Given the description of an element on the screen output the (x, y) to click on. 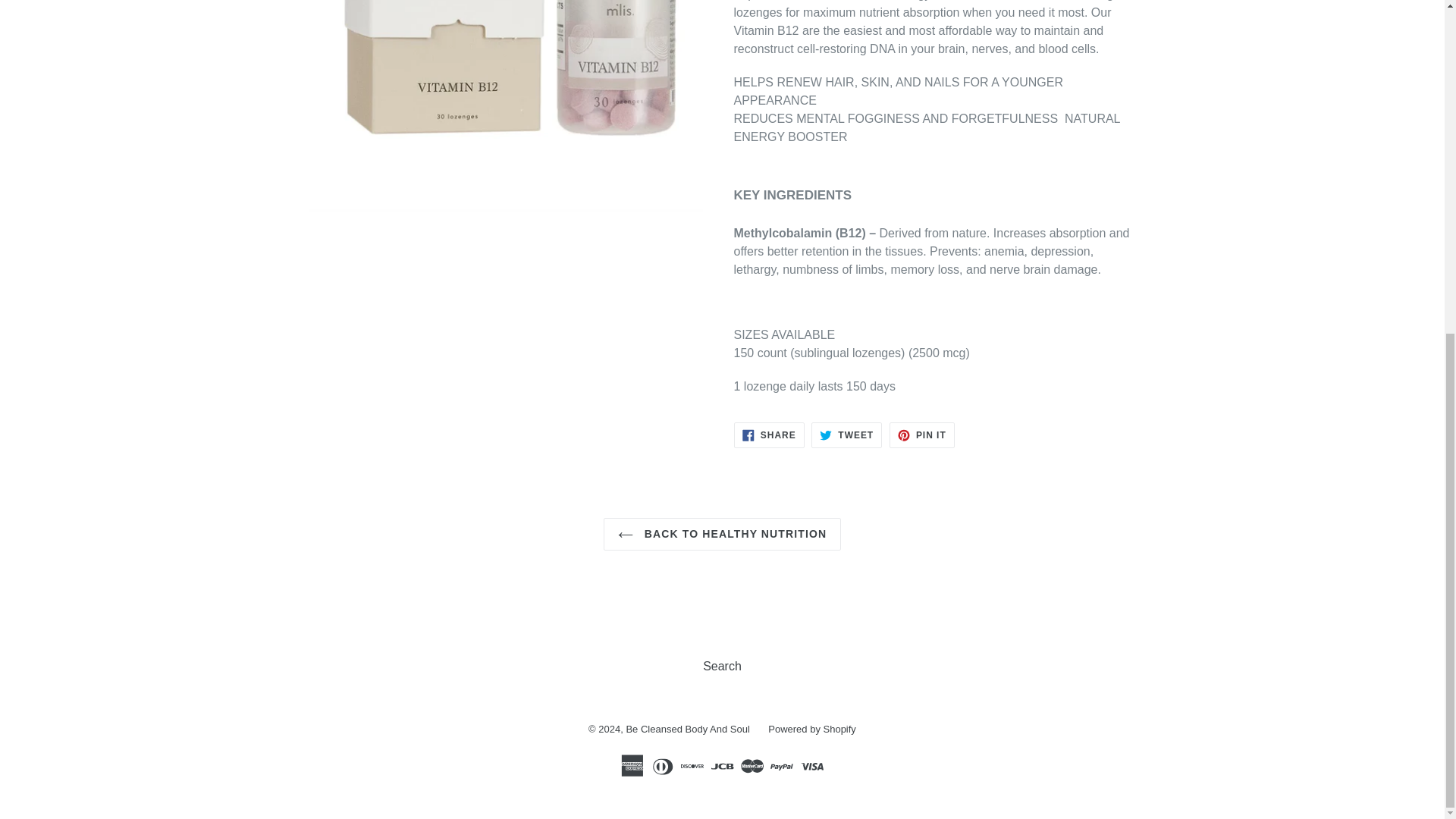
Pin on Pinterest (846, 434)
Be Cleansed Body And Soul (922, 434)
Tweet on Twitter (687, 728)
BACK TO HEALTHY NUTRITION (846, 434)
Powered by Shopify (722, 533)
Search (812, 728)
Share on Facebook (769, 434)
